Given the description of an element on the screen output the (x, y) to click on. 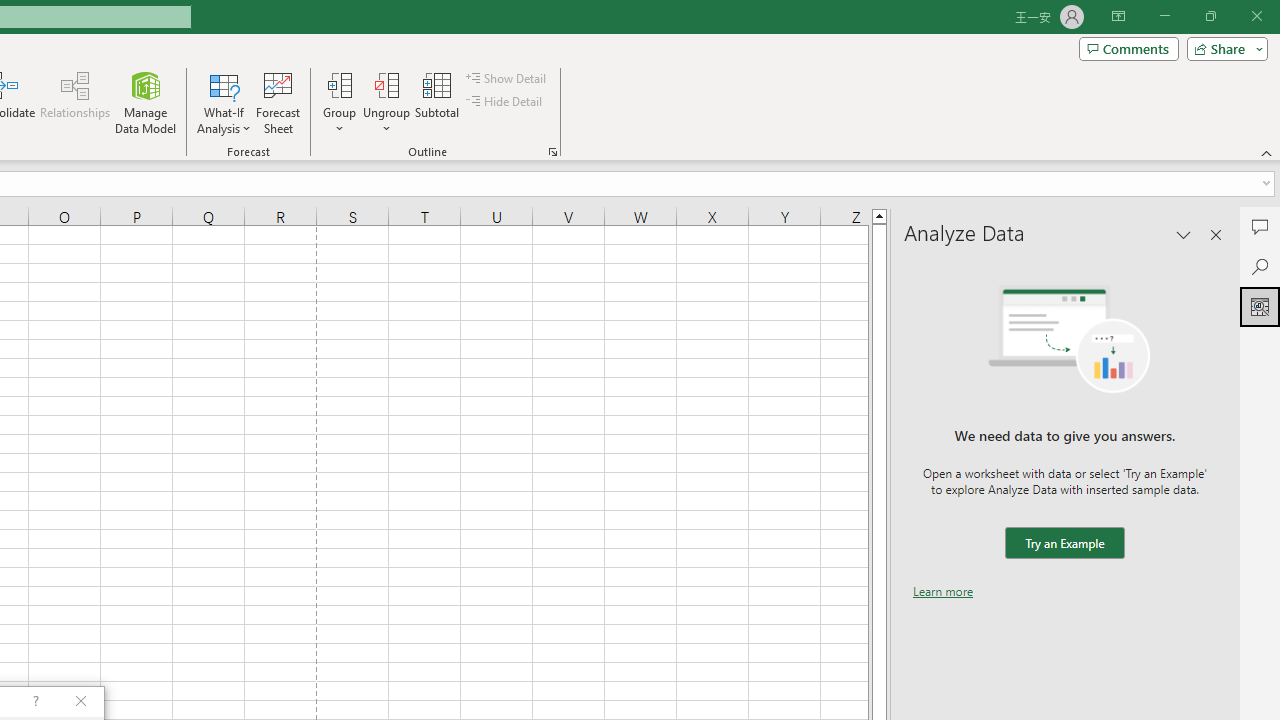
Group and Outline Settings (552, 151)
Relationships (75, 102)
Manage Data Model (145, 102)
What-If Analysis (223, 102)
Subtotal (437, 102)
Hide Detail (505, 101)
